Given the description of an element on the screen output the (x, y) to click on. 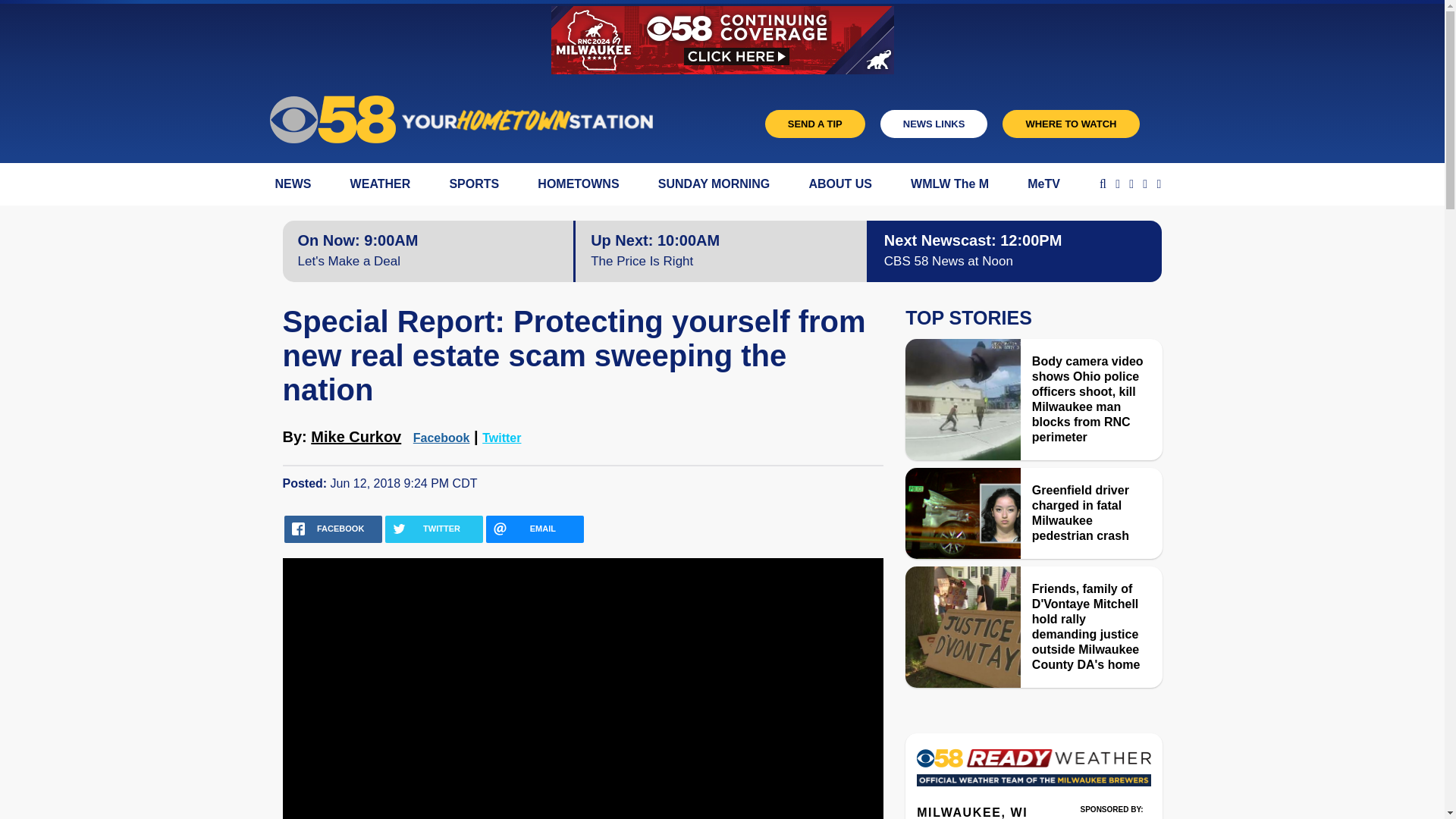
Weather (1033, 772)
